Given the description of an element on the screen output the (x, y) to click on. 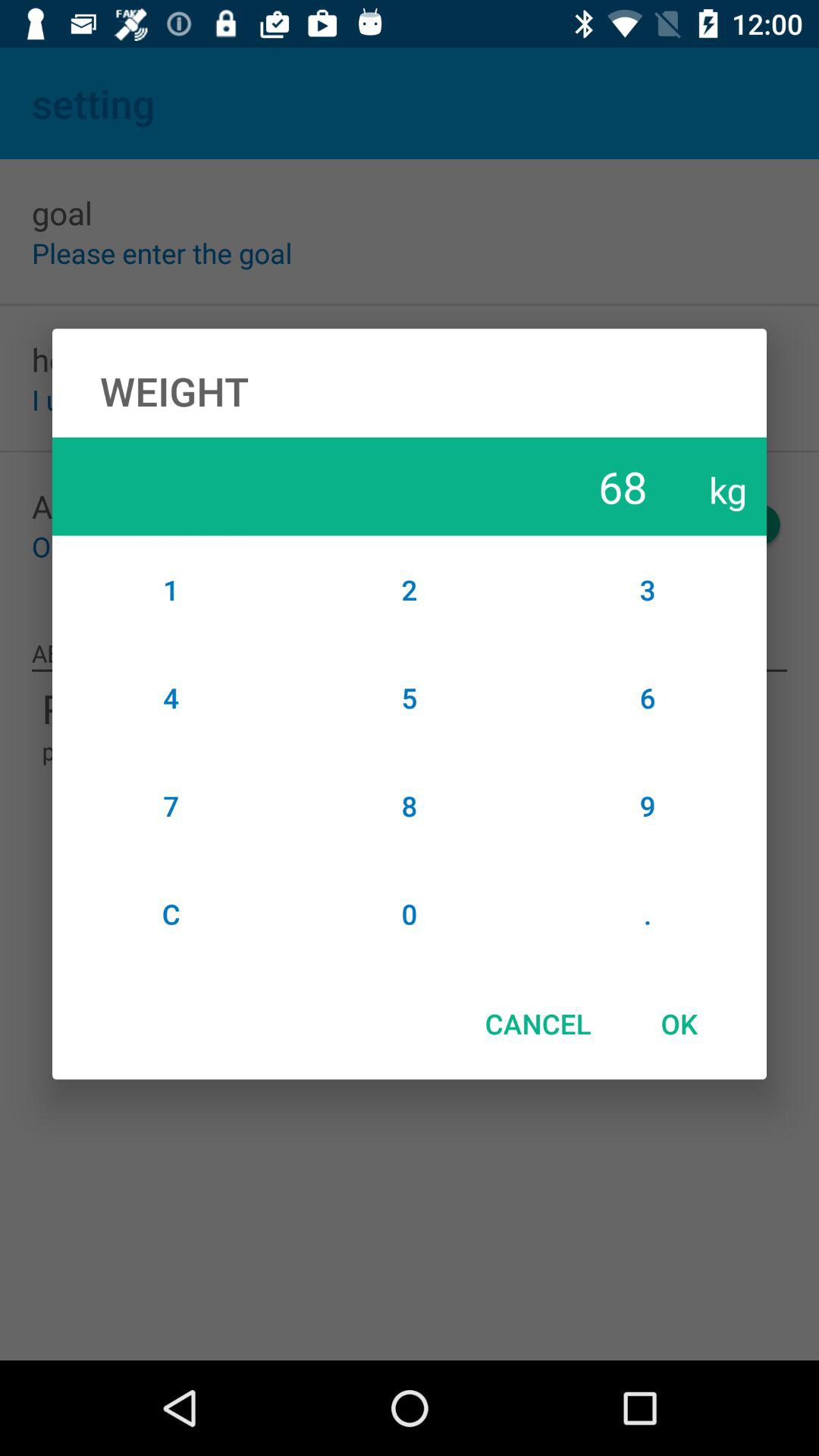
turn on icon next to 9 item (409, 913)
